Given the description of an element on the screen output the (x, y) to click on. 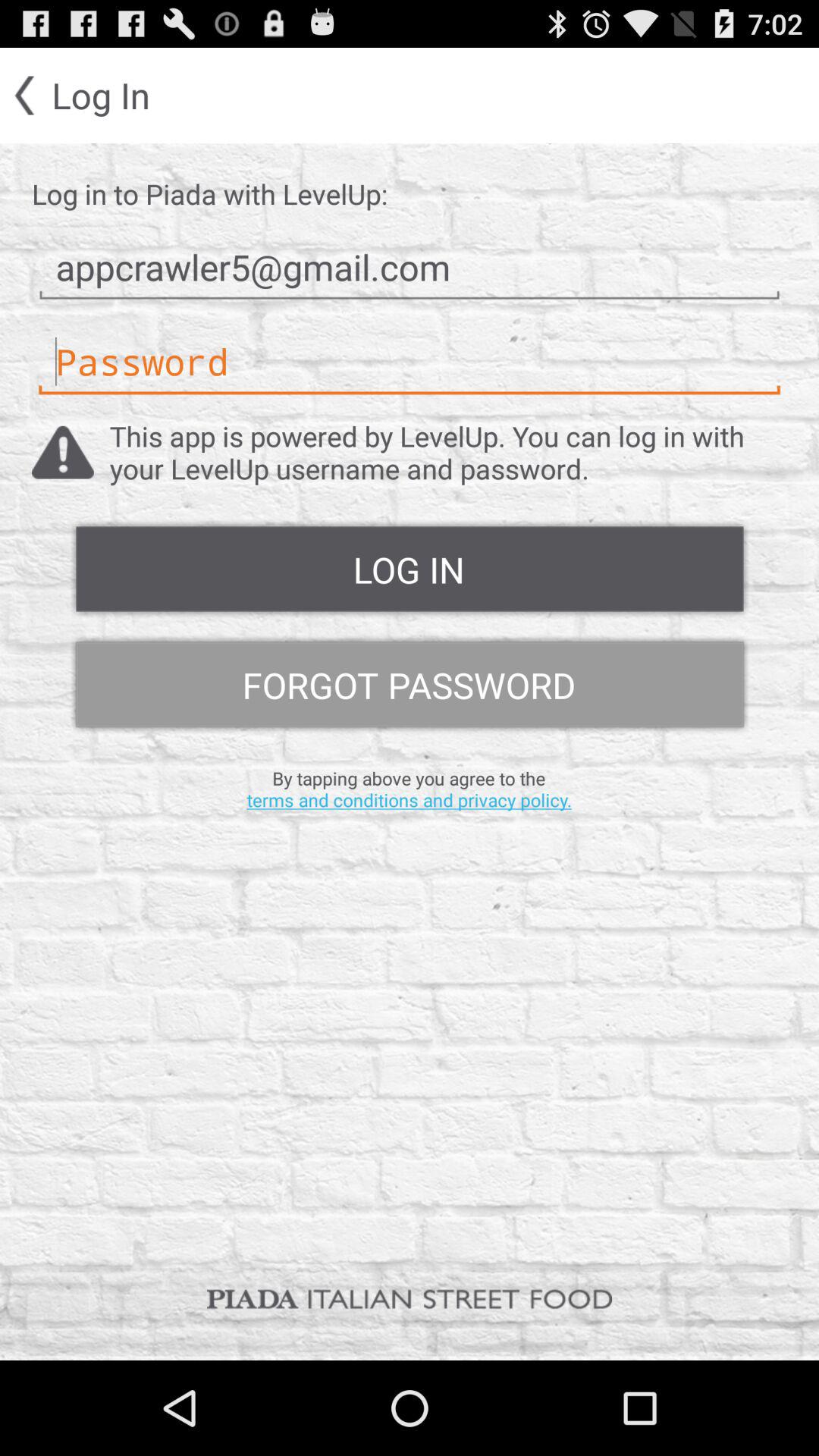
password typing option (409, 362)
